Given the description of an element on the screen output the (x, y) to click on. 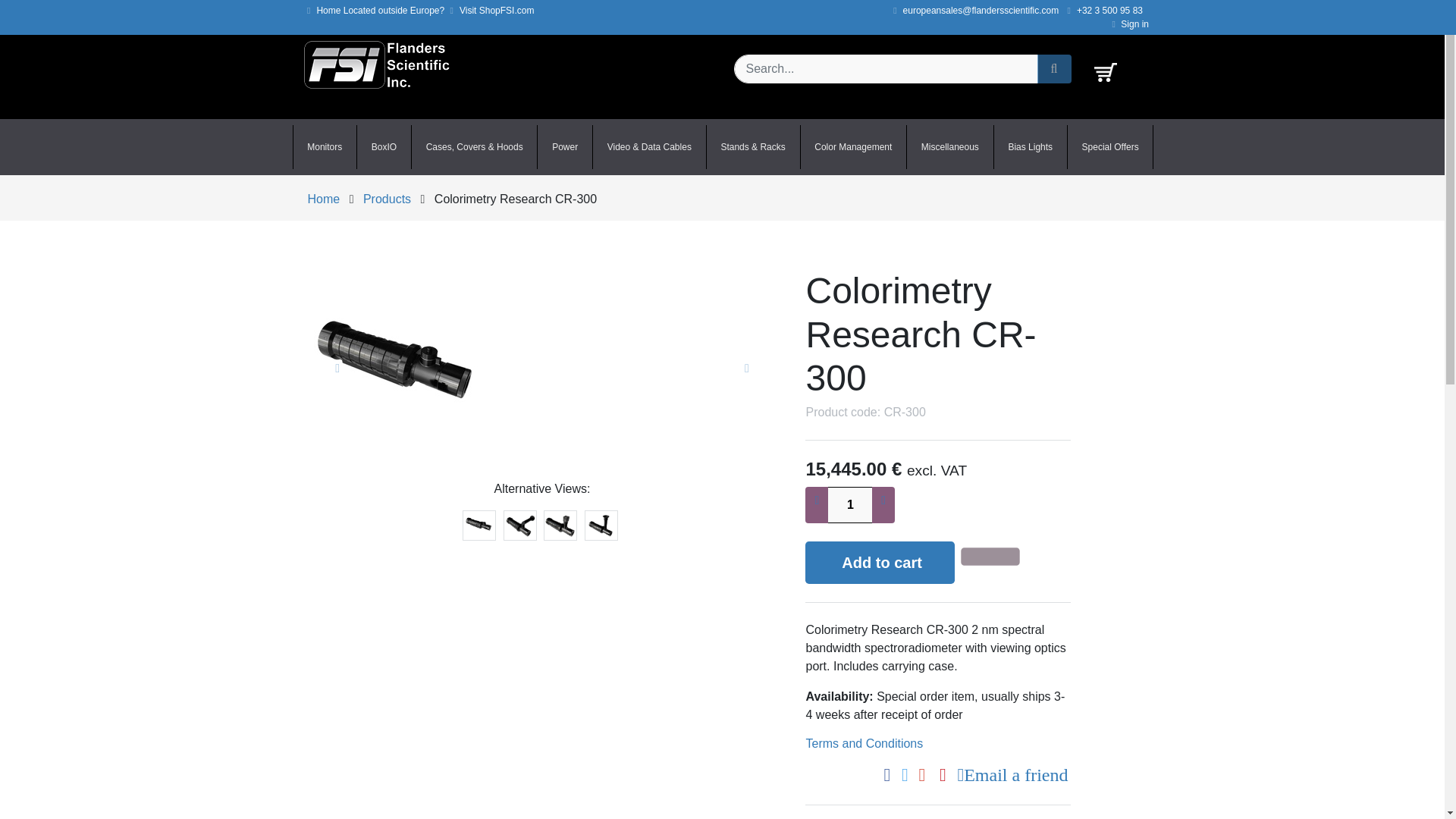
FSI Europe (376, 64)
Search (1053, 68)
Home (323, 9)
Visit ShopFSI.com (490, 9)
Sign in (1130, 23)
Add to Wishlist (993, 557)
BoxIO (383, 146)
1 (849, 504)
Monitors (324, 146)
Power (564, 146)
